Given the description of an element on the screen output the (x, y) to click on. 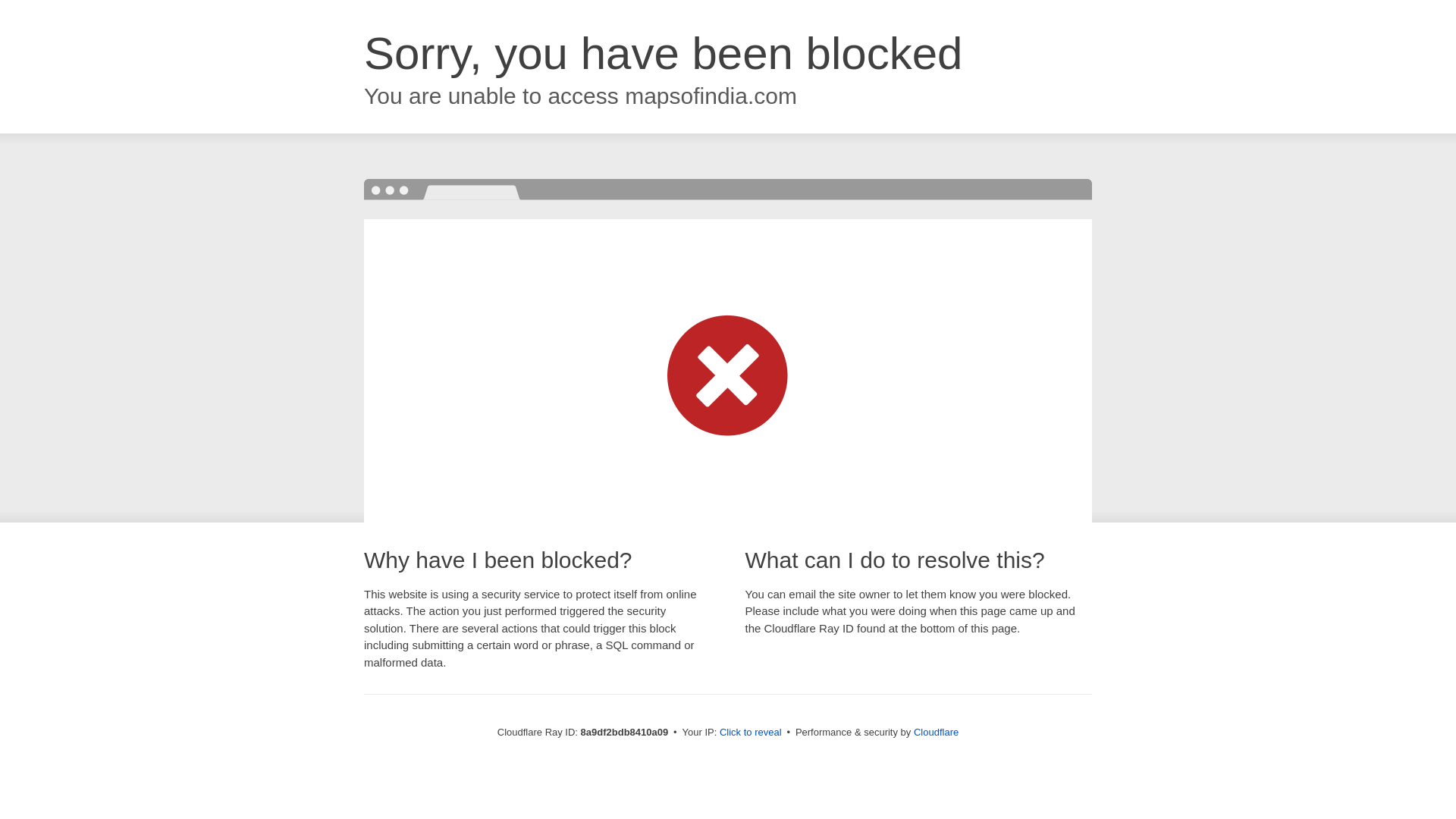
Click to reveal (750, 732)
Cloudflare (936, 731)
